Given the description of an element on the screen output the (x, y) to click on. 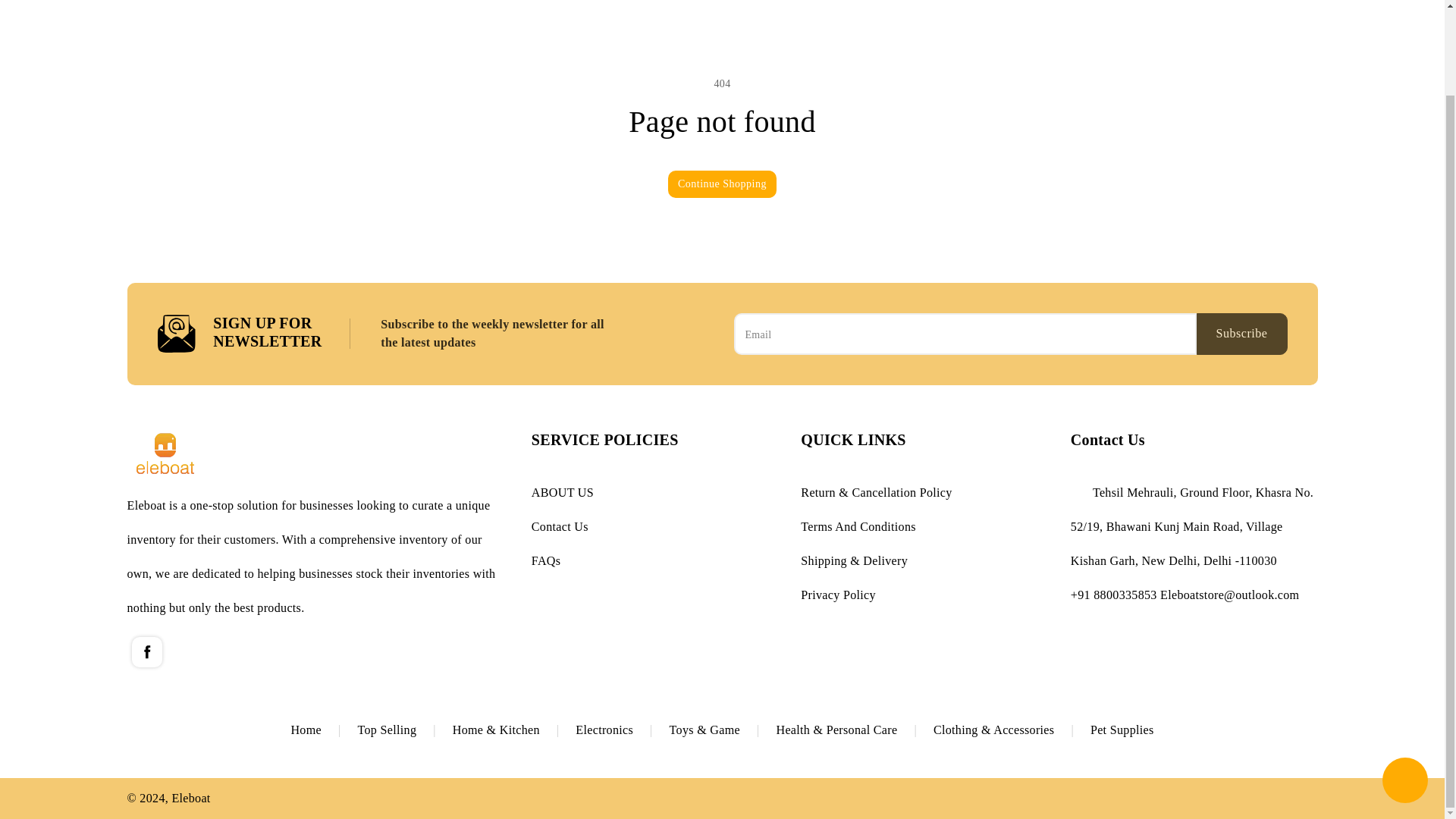
Pet Supplies (1122, 729)
Electronics (621, 729)
All products (322, 729)
Top Selling (405, 729)
Shopify online store chat (1404, 685)
